Given the description of an element on the screen output the (x, y) to click on. 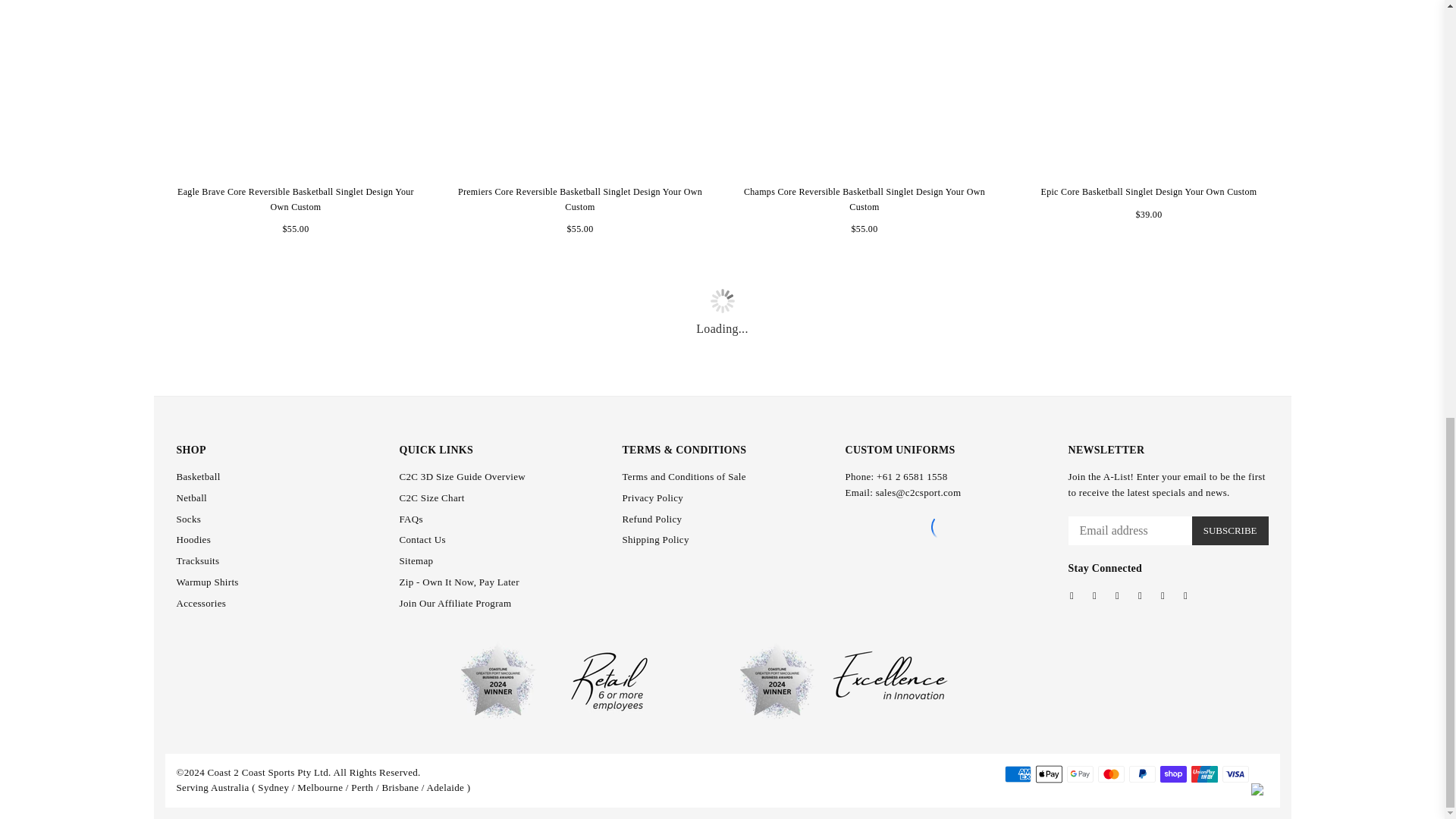
SUBSCRIBE (1230, 530)
Coast 2 Coast Sports on YouTube (1139, 595)
Coast 2 Coast Sports on Linkedin (1162, 595)
Coast 2 Coast Sports on TikTok (1184, 595)
Shop Pay (1173, 773)
Coast 2 Coast Sports on Pinterest (1094, 595)
Mastercard (1110, 773)
Coast 2 Coast Sports on Instagram (1116, 595)
Visa (1236, 773)
Coast 2 Coast Sports on Facebook (1071, 595)
American Express (1017, 773)
Apple Pay (1048, 773)
Google Pay (1080, 773)
Google Review Widget (945, 526)
PayPal (1142, 773)
